Given the description of an element on the screen output the (x, y) to click on. 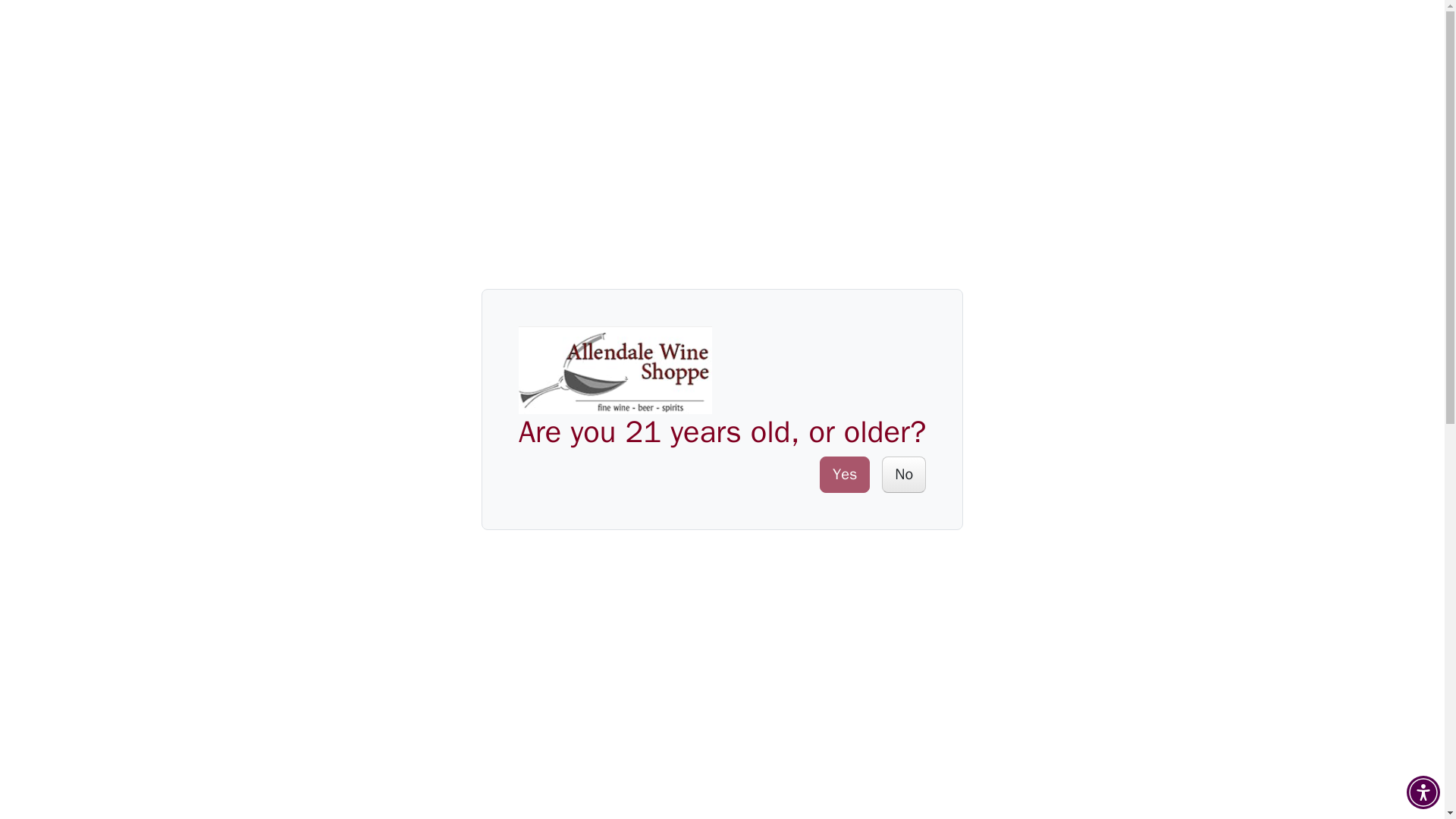
Vinous 98 point rating. (800, 137)
Wine Advocate 97 point rating. (770, 769)
Vinous 98 point rating. (713, 631)
Wine Advocate 97 point rating. (847, 137)
Wine Enthusiast 98 point rating. (753, 137)
Wine (136, 28)
Wine Spectator 94 point rating. (946, 137)
Jeb Dunnuck 97 point rating. (897, 137)
Wine Enthusiast 98 point rating. (781, 549)
Accessibility Menu (1422, 792)
